Given the description of an element on the screen output the (x, y) to click on. 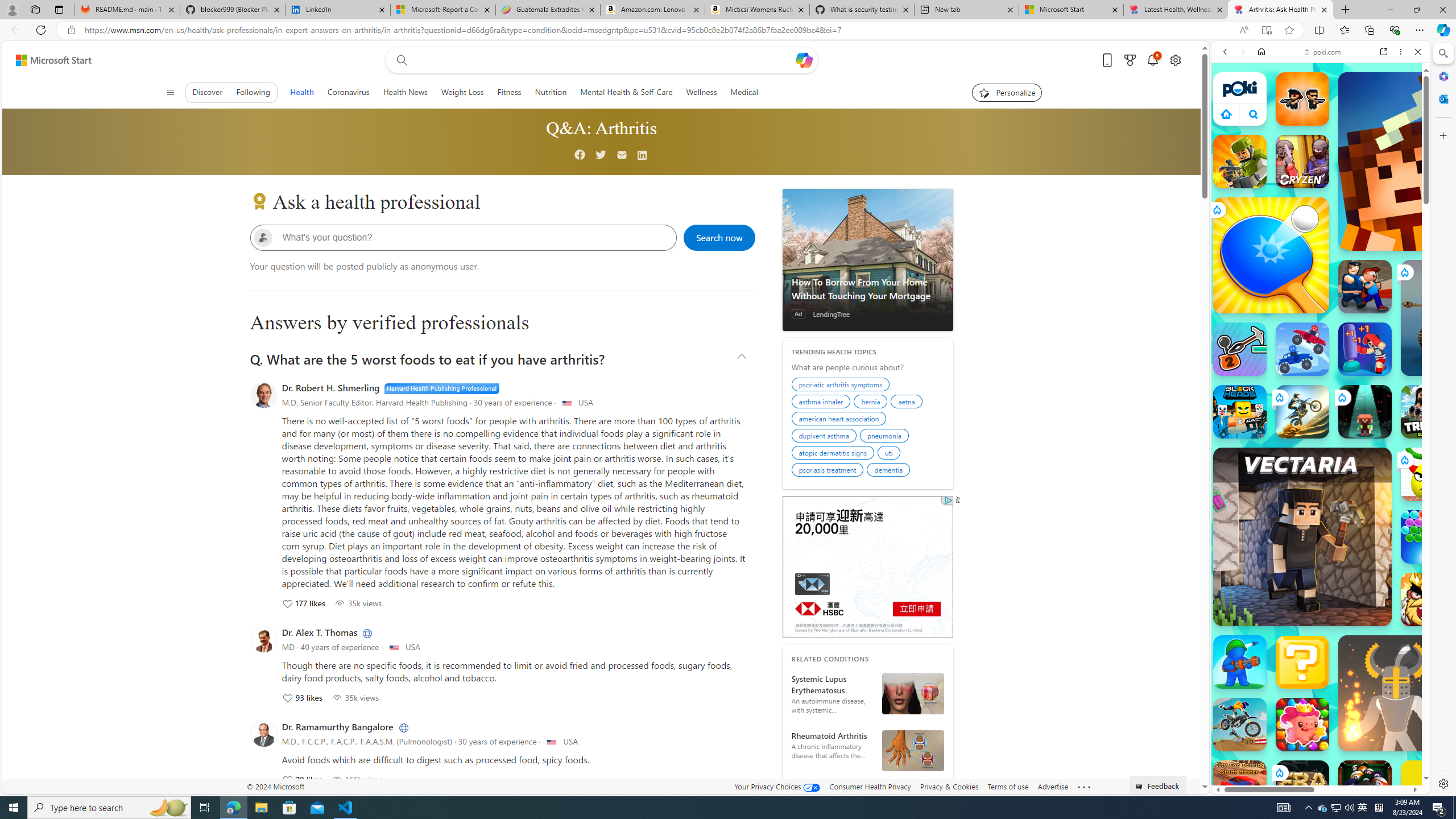
Nutrition (550, 92)
Escape From School (1364, 286)
Games for Girls (1320, 407)
Cryzen.io Cryzen.io (1302, 161)
War Master War Master (1239, 661)
What's your question? (472, 237)
Match Arena (1302, 724)
Like a King Like a King (1427, 599)
Blockheads (1239, 411)
Class: aprWdaSScyiJf4Jvmsx9 (1225, 113)
